Given the description of an element on the screen output the (x, y) to click on. 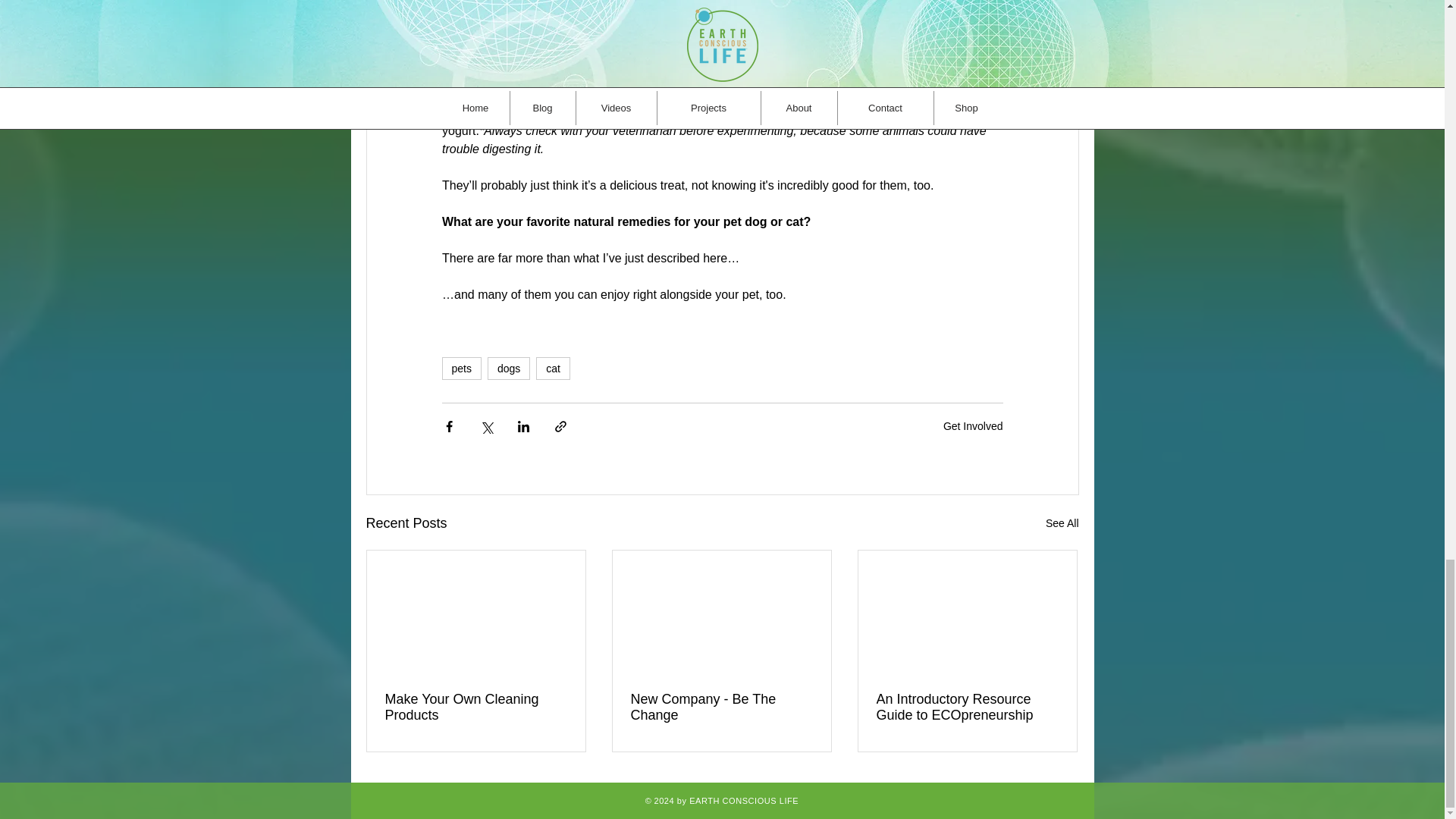
dogs (508, 368)
Get Involved (973, 426)
See All (1061, 523)
cat (552, 368)
Make Your Own Cleaning Products (476, 707)
pets (460, 368)
An Introductory Resource Guide to ECOpreneurship (967, 707)
New Company - Be The Change (721, 707)
